Given the description of an element on the screen output the (x, y) to click on. 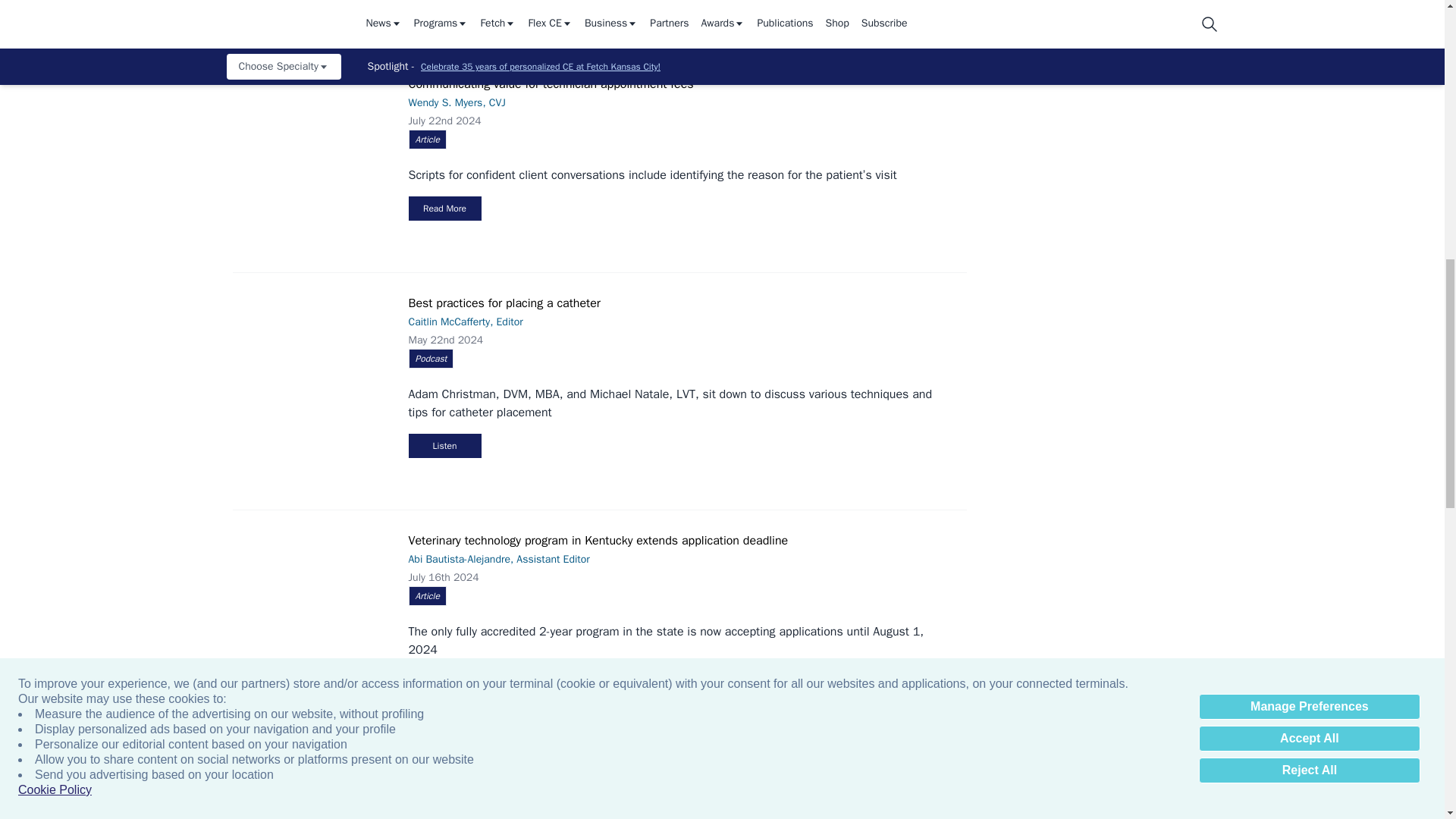
Communicating value for technician appointment fees (317, 129)
